Given the description of an element on the screen output the (x, y) to click on. 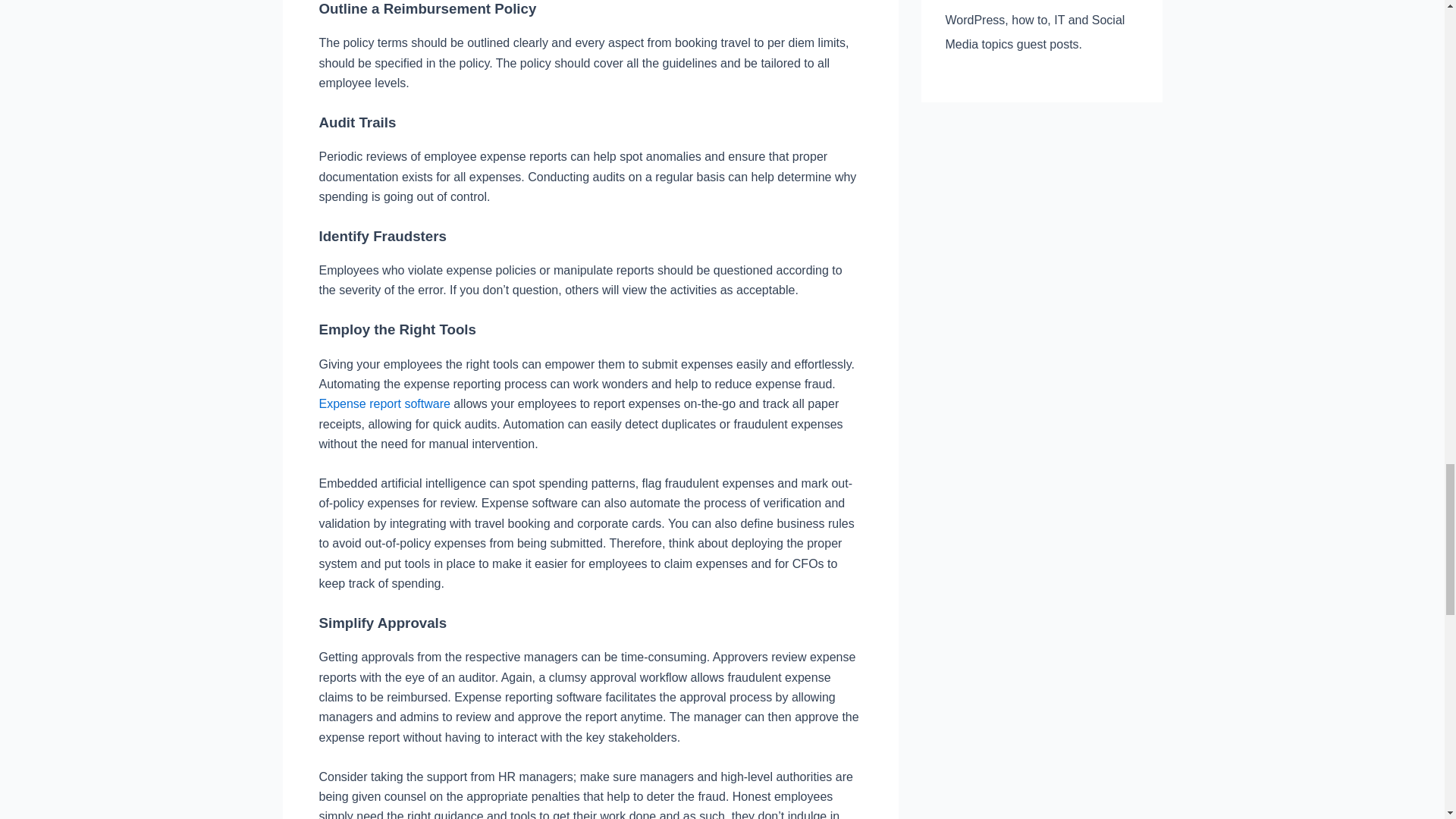
Expense report software (383, 403)
